Given the description of an element on the screen output the (x, y) to click on. 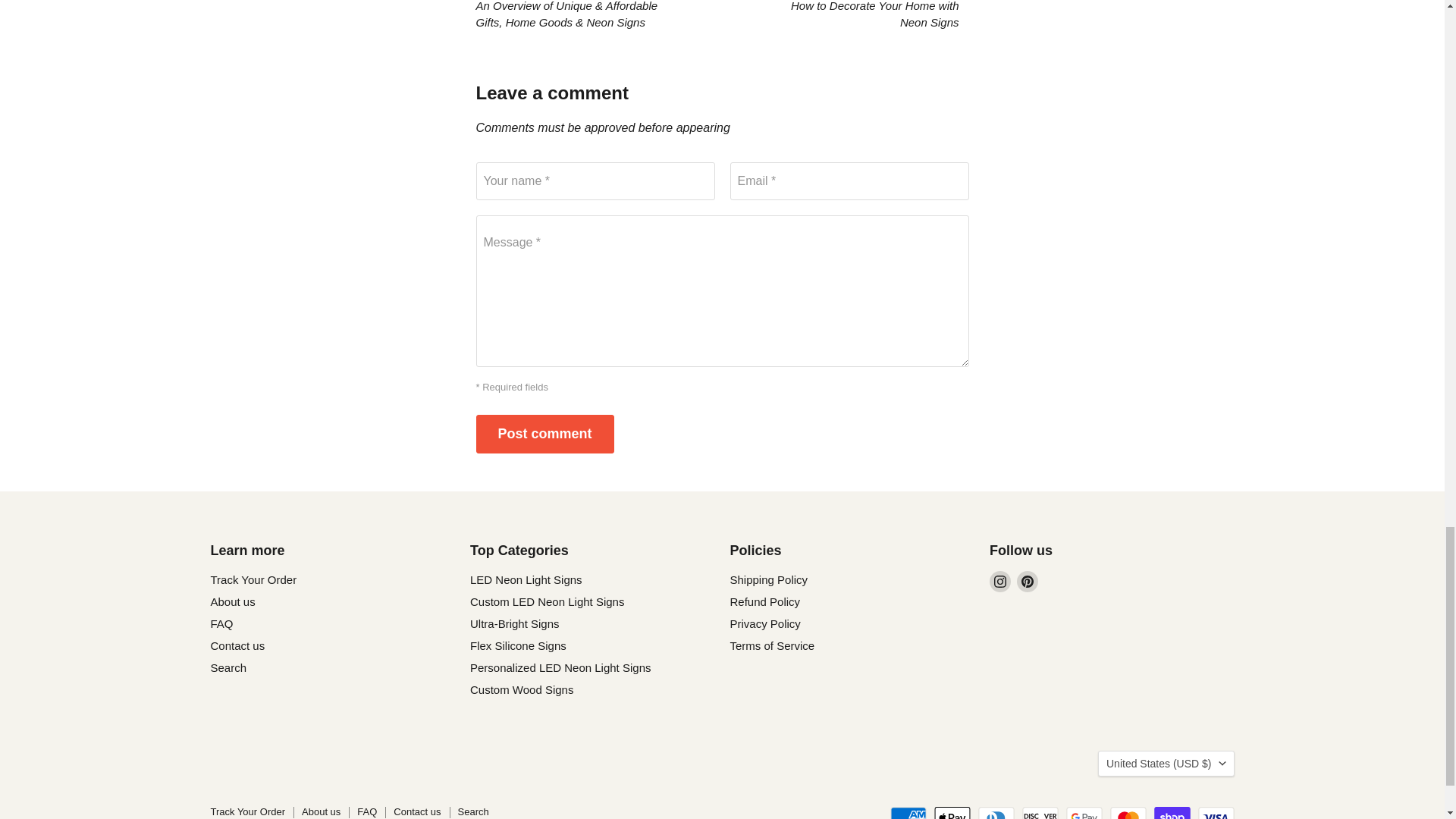
Pinterest (1027, 581)
Apple Pay (952, 812)
American Express (907, 812)
Instagram (1000, 581)
Google Pay (1083, 812)
Diners Club (996, 812)
Mastercard (1128, 812)
Shop Pay (1172, 812)
Discover (1040, 812)
